Given the description of an element on the screen output the (x, y) to click on. 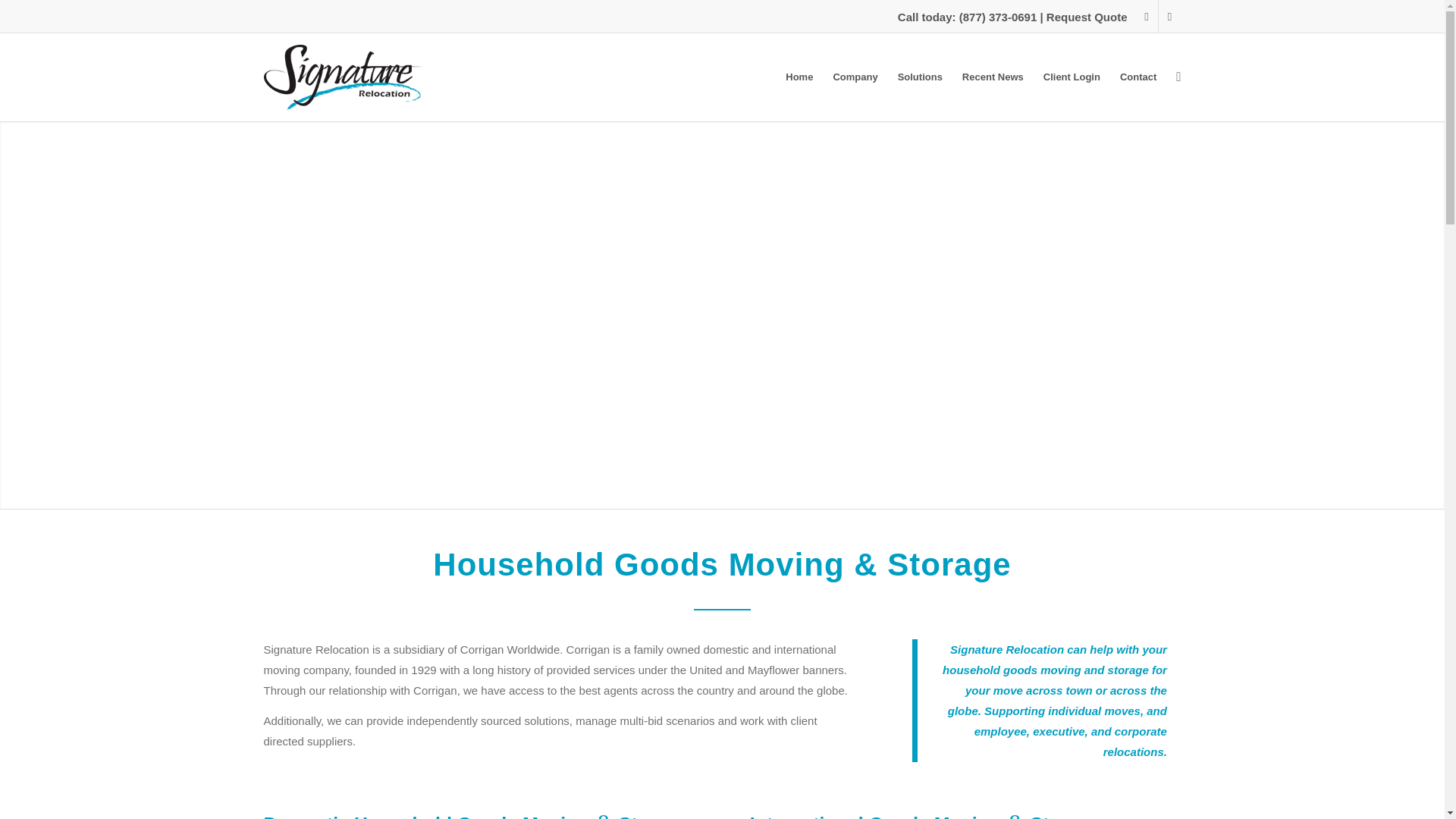
Recent News (992, 77)
Request Quote (1086, 16)
